Given the description of an element on the screen output the (x, y) to click on. 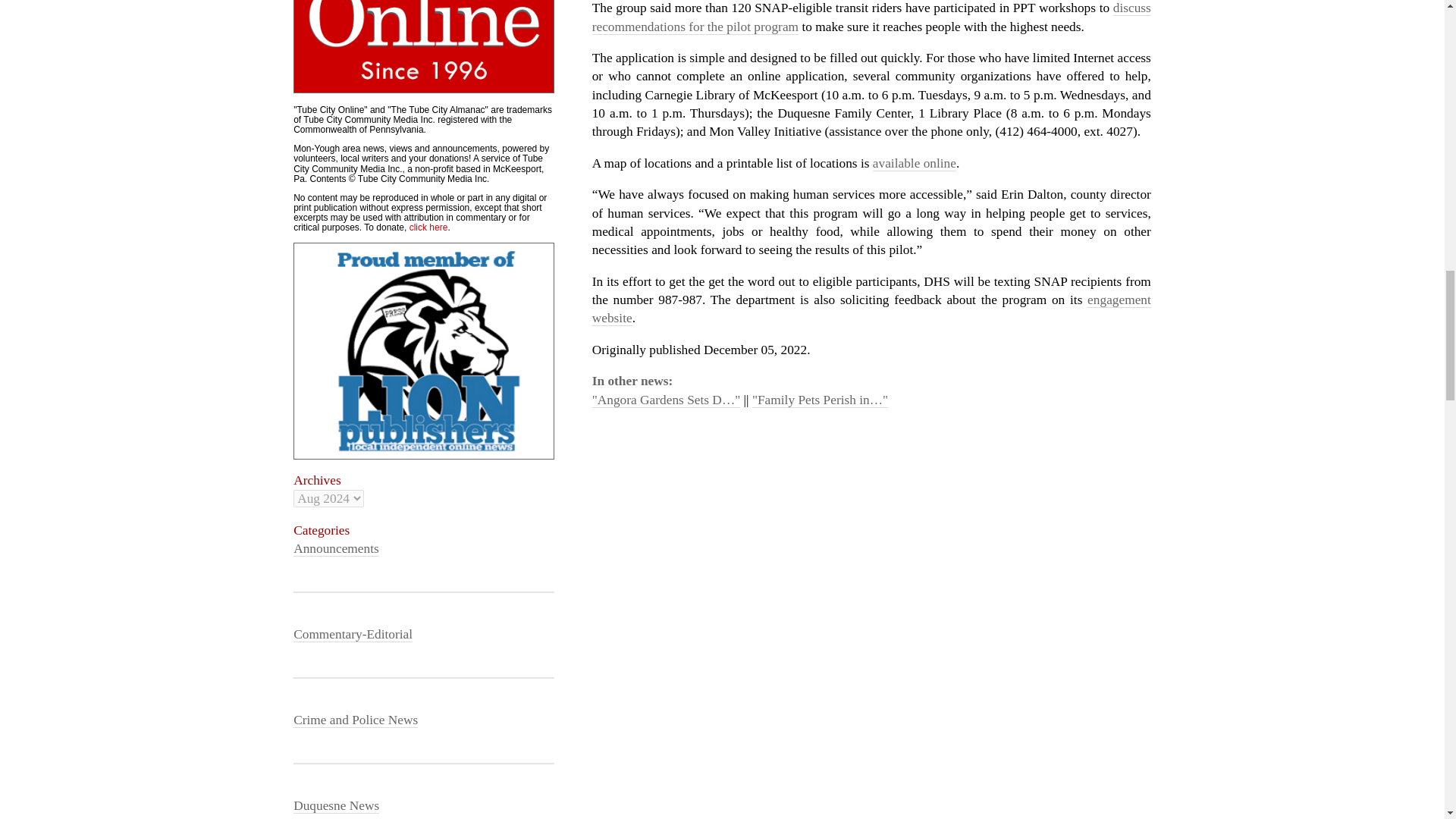
Commentary-Editorial (353, 634)
Crime and Police News (355, 720)
Duquesne News (336, 806)
Announcements (336, 548)
click here (428, 226)
Member, Local Independent Online Publishers (424, 351)
